Given the description of an element on the screen output the (x, y) to click on. 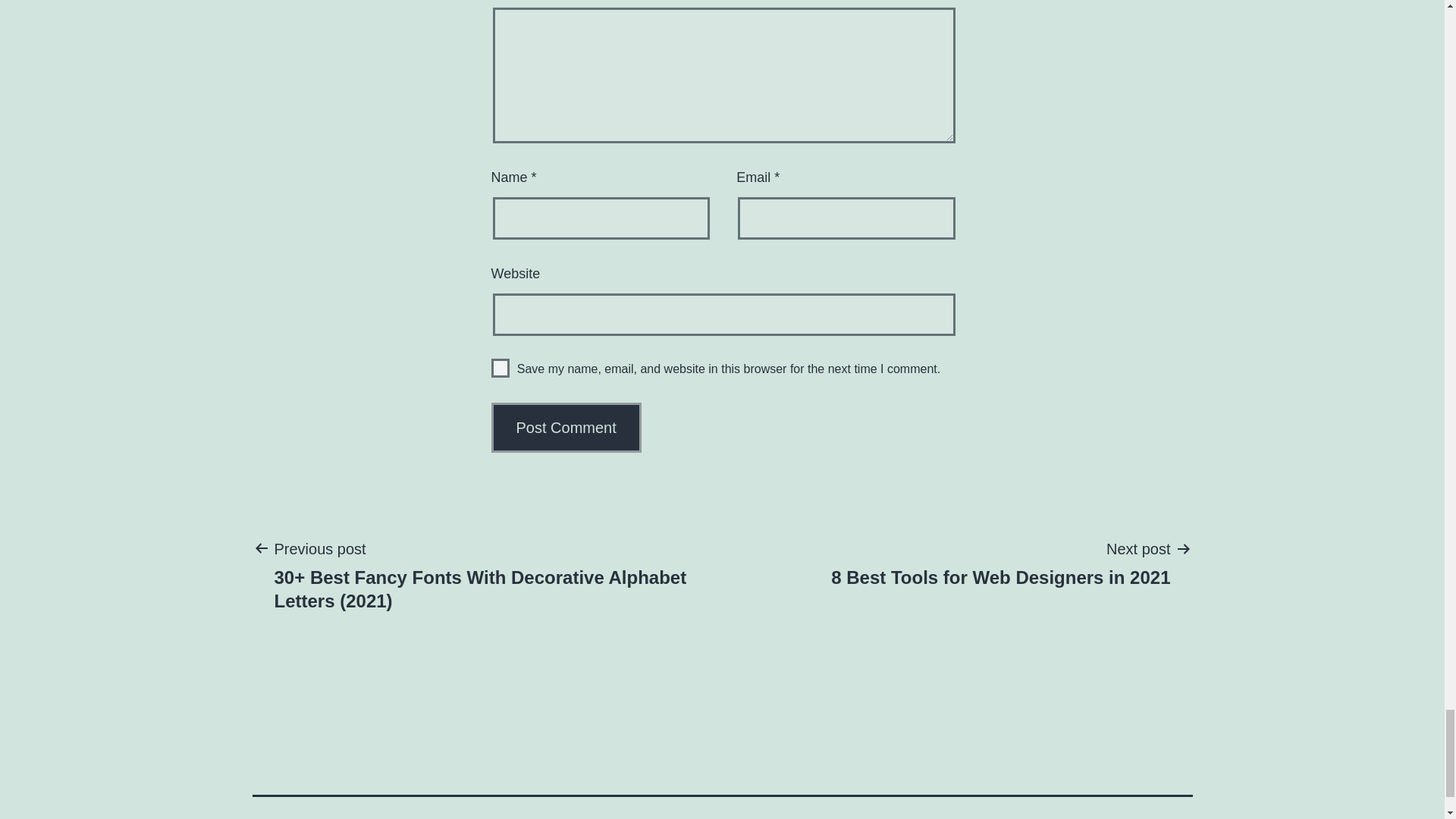
yes (500, 367)
Post Comment (567, 427)
